Given the description of an element on the screen output the (x, y) to click on. 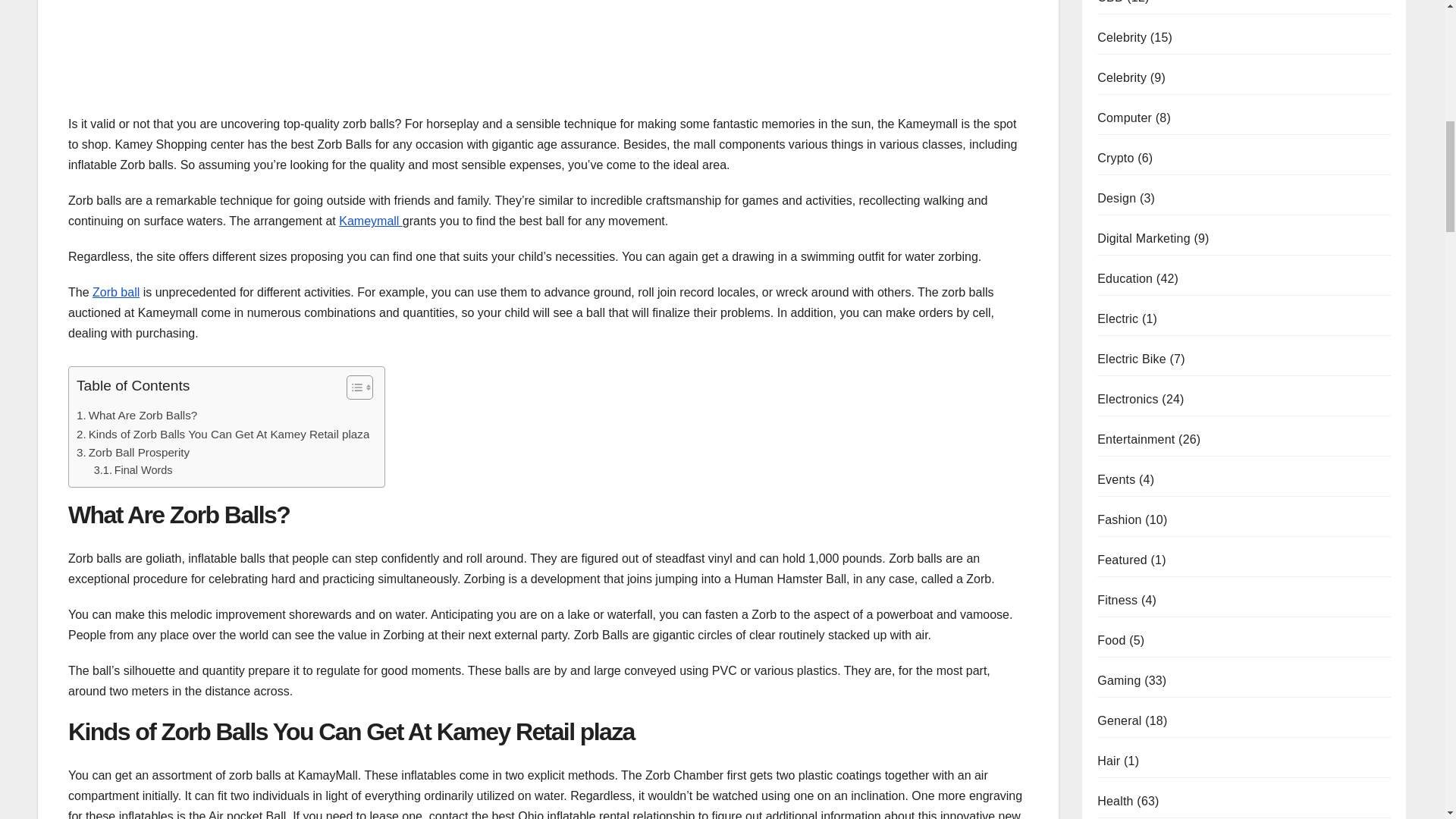
What Are Zorb Balls? (136, 415)
Kameymall (371, 220)
What Are Zorb Balls? (136, 415)
Zorb Ball Prosperity (133, 452)
Final Words (133, 470)
Kinds of Zorb Balls You Can Get At Kamey Retail plaza (223, 434)
Zorb ball (116, 291)
Kinds of Zorb Balls You Can Get At Kamey Retail plaza (223, 434)
Final Words (133, 470)
Advertisement (548, 17)
